Given the description of an element on the screen output the (x, y) to click on. 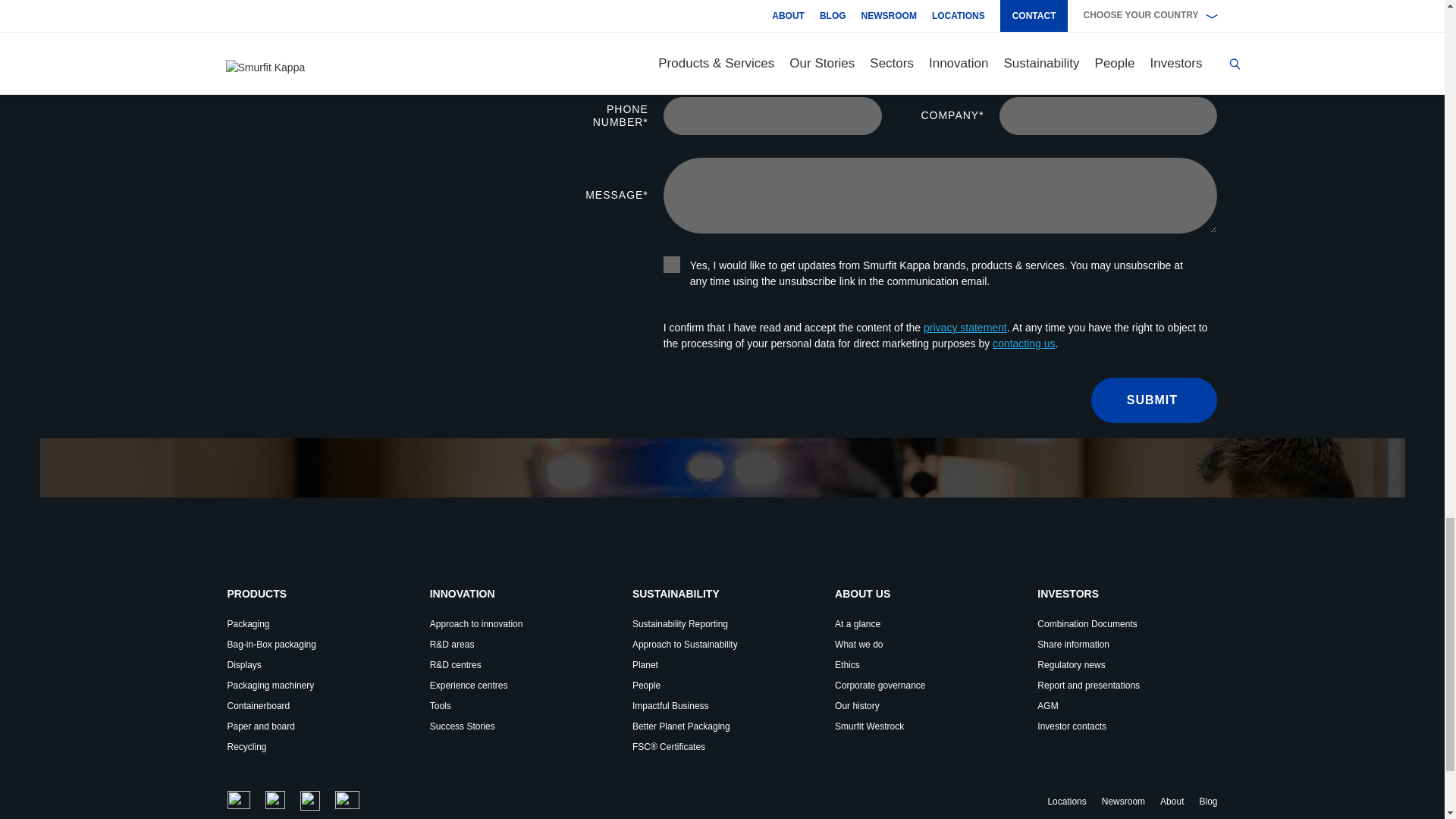
Submit  (1153, 400)
Facebook (309, 800)
LinkedIn (274, 800)
true (671, 264)
YouTube (346, 800)
